Given the description of an element on the screen output the (x, y) to click on. 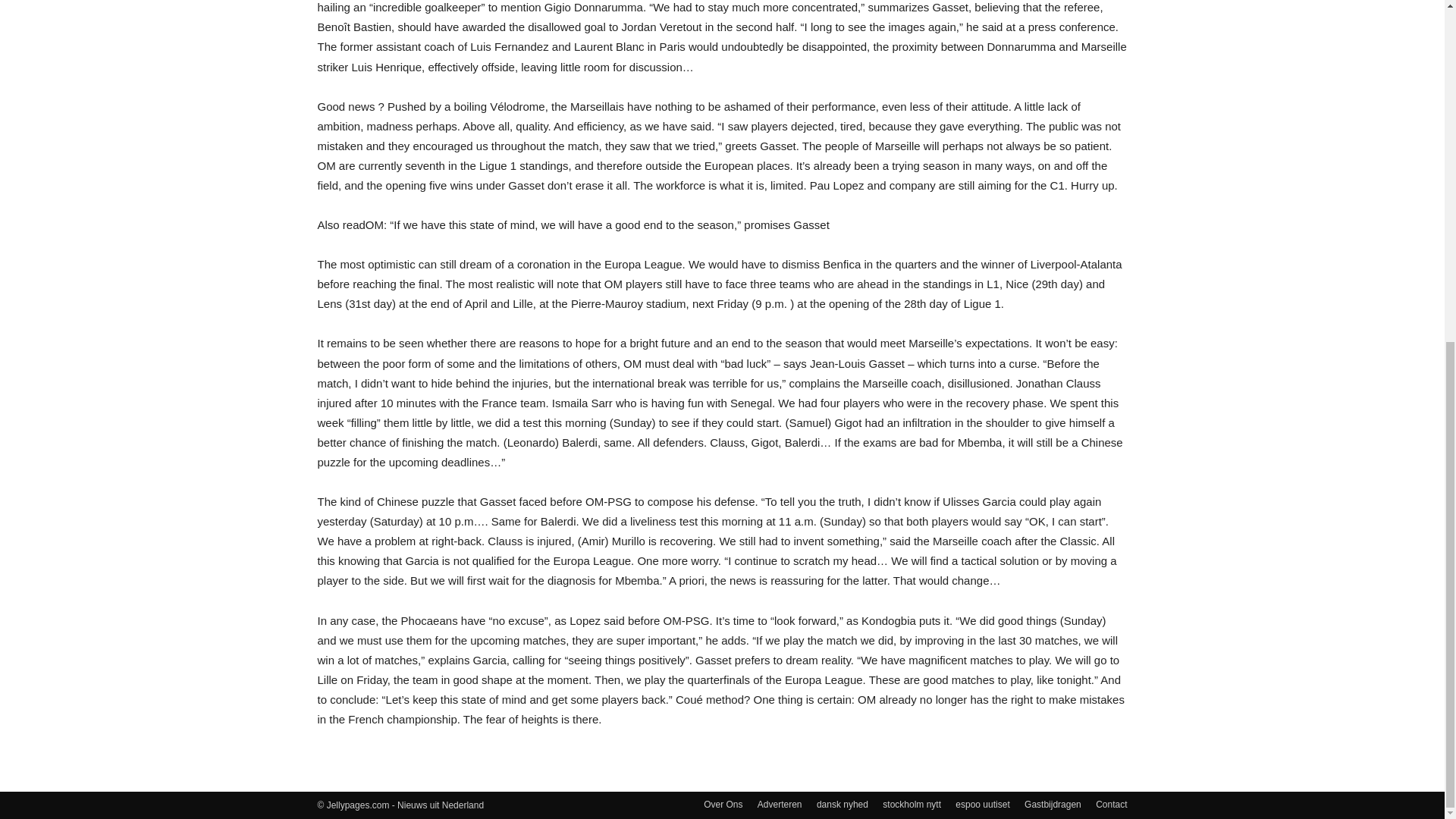
espoo uutiset (982, 804)
Gastbijdragen (1053, 804)
dansk nyhed (841, 804)
Contact (1111, 804)
stockholm nytt (911, 804)
Adverteren (779, 804)
Over Ons (722, 804)
